Given the description of an element on the screen output the (x, y) to click on. 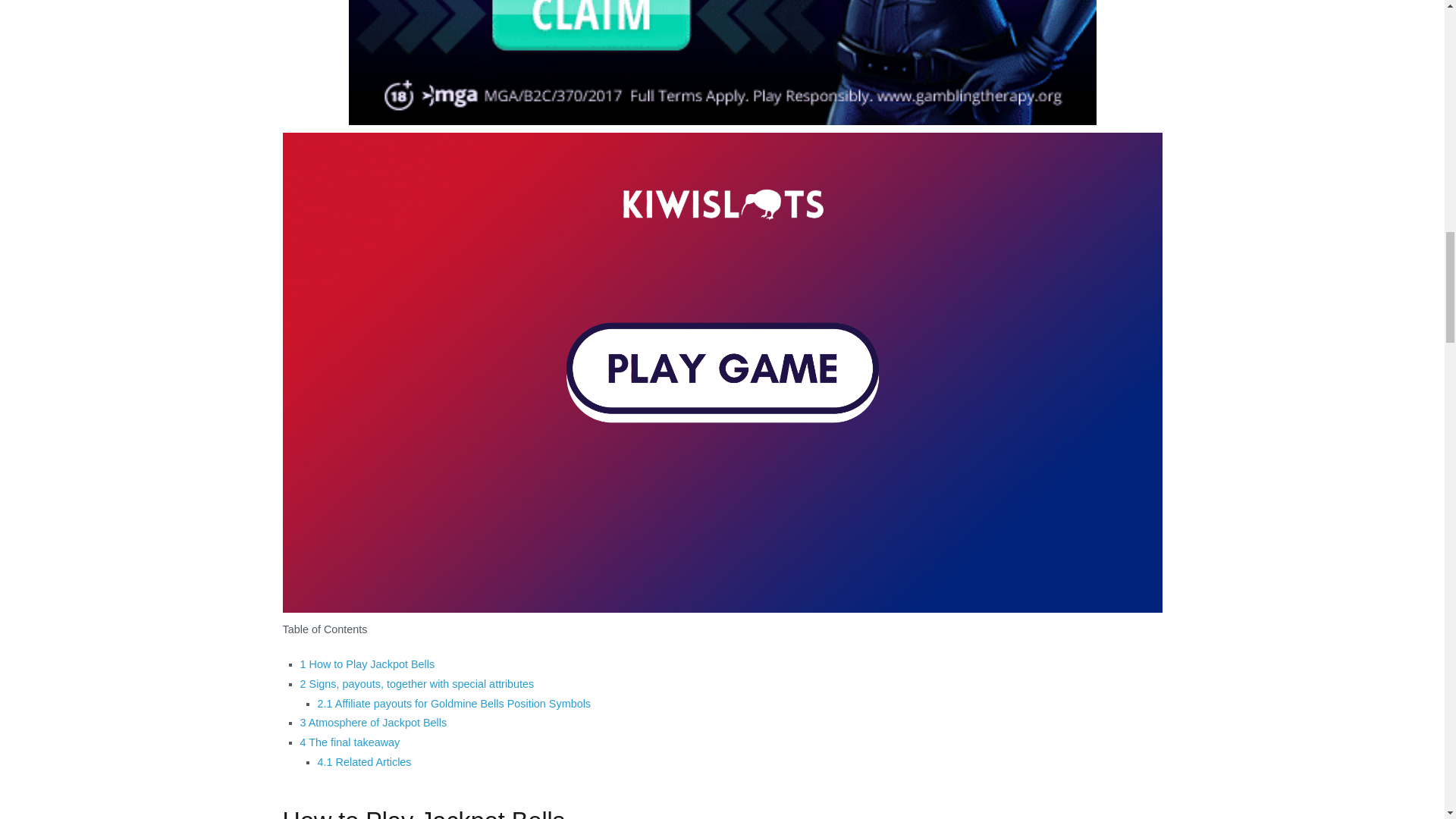
2.1 Affiliate payouts for Goldmine Bells Position Symbols (454, 703)
4 The final takeaway (349, 742)
3 Atmosphere of Jackpot Bells (372, 722)
1 How to Play Jackpot Bells (367, 664)
2 Signs, payouts, together with special attributes (416, 684)
